Given the description of an element on the screen output the (x, y) to click on. 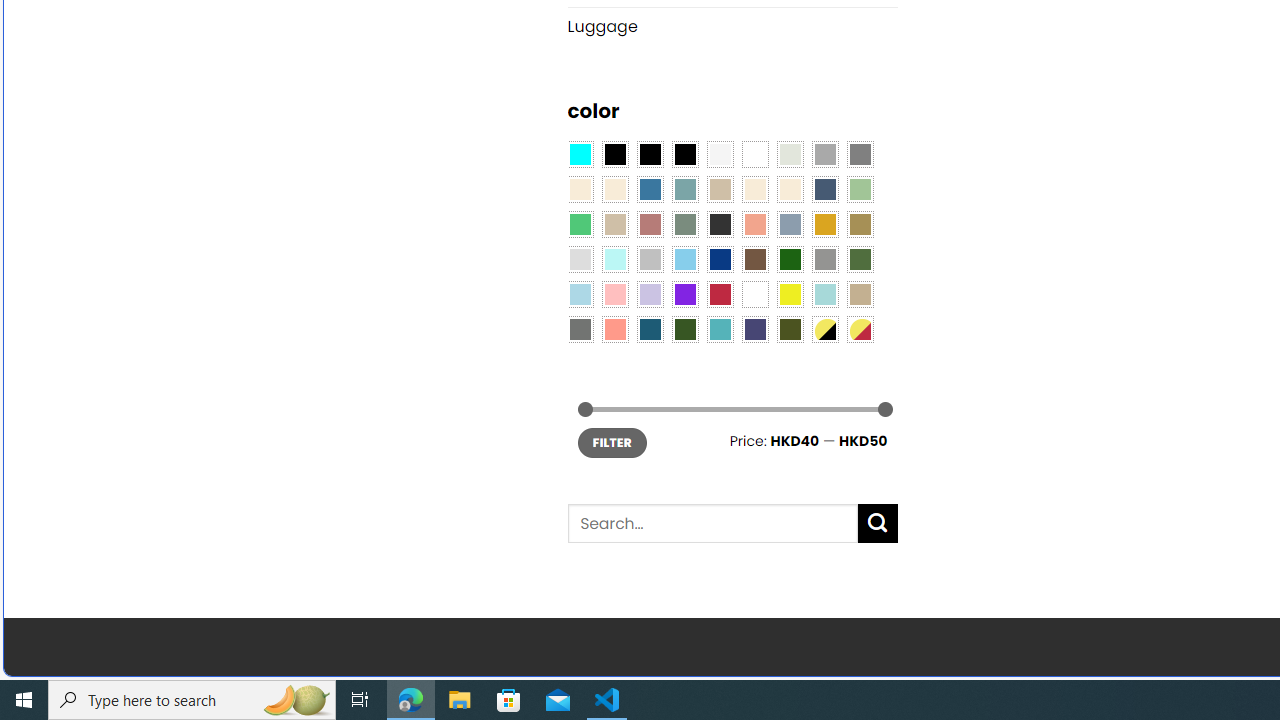
Forest (684, 329)
Clear (755, 154)
Coral (755, 224)
Brown (755, 259)
White (755, 295)
Blue Sage (684, 190)
Dull Nickle (579, 329)
Light Taupe (614, 224)
Charcoal (719, 224)
Purple (684, 295)
Sky Blue (684, 259)
Pink (614, 295)
Kelp (859, 224)
Brownie (719, 190)
Dusty Blue (789, 224)
